Given the description of an element on the screen output the (x, y) to click on. 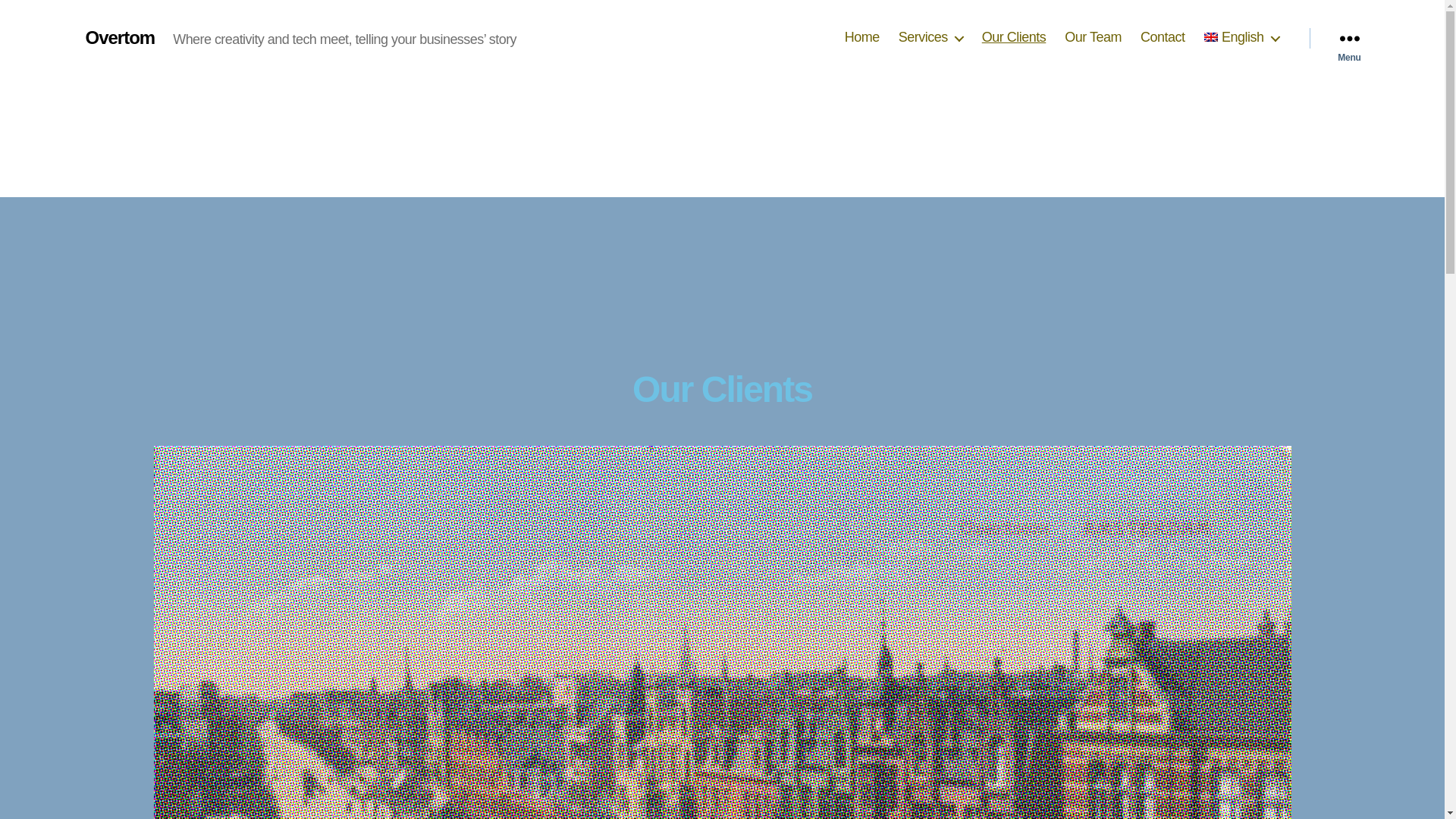
Contact (1162, 37)
English (1241, 37)
Overtom (119, 37)
Our Clients (1013, 37)
English (1241, 37)
Services (930, 37)
Menu (1348, 37)
Home (861, 37)
Our Team (1092, 37)
